Given the description of an element on the screen output the (x, y) to click on. 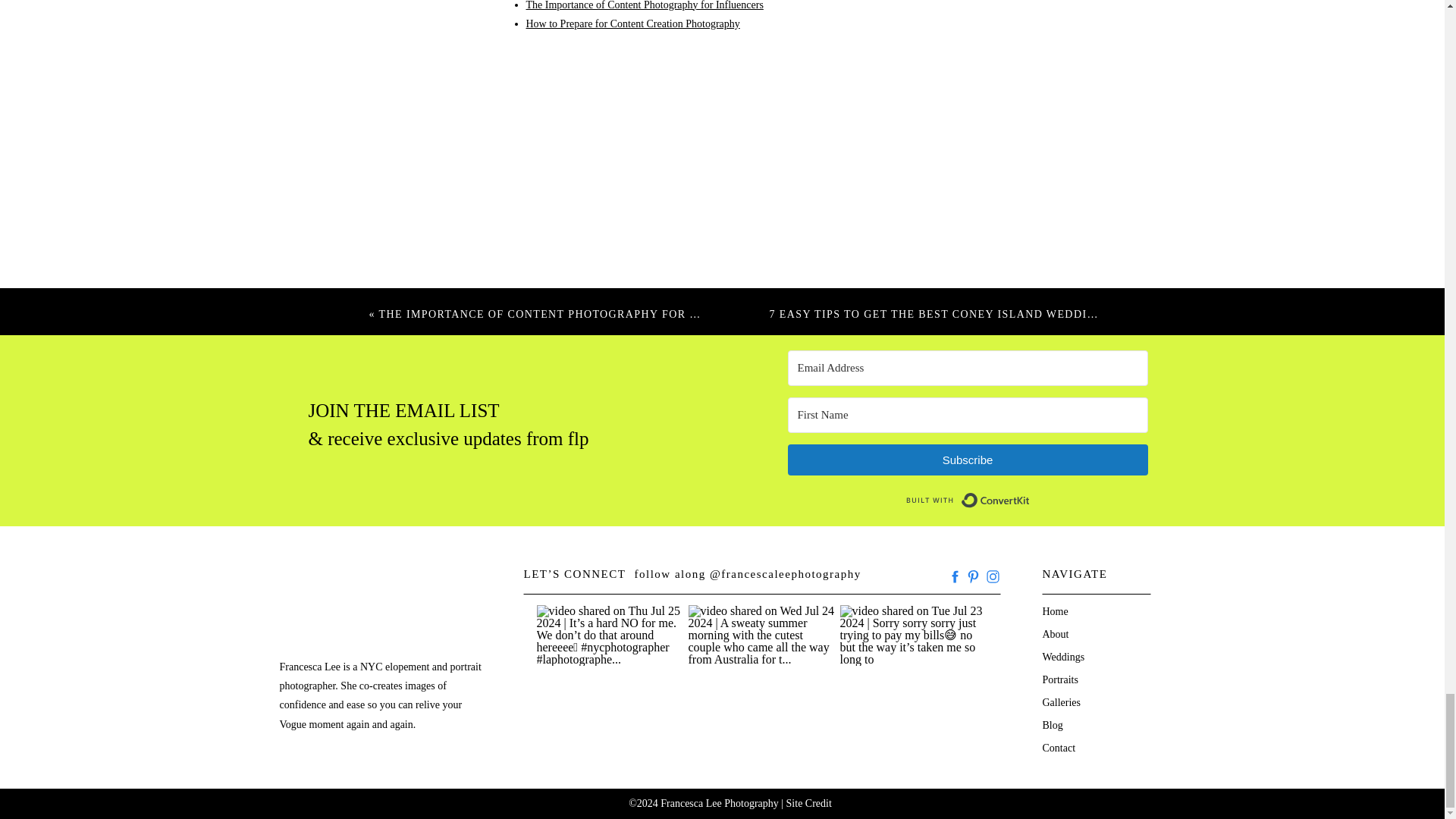
Built with ConvertKit (967, 500)
Subscribe (967, 459)
How to Prepare for Content Creation Photography (632, 23)
The Importance of Content Photography for Influencers (643, 5)
Contact (1080, 745)
THE IMPORTANCE OF CONTENT PHOTOGRAPHY FOR INFLUENCERS (575, 314)
About  (1080, 631)
Blog (1080, 722)
Portraits (1080, 677)
Home (1080, 608)
